Given the description of an element on the screen output the (x, y) to click on. 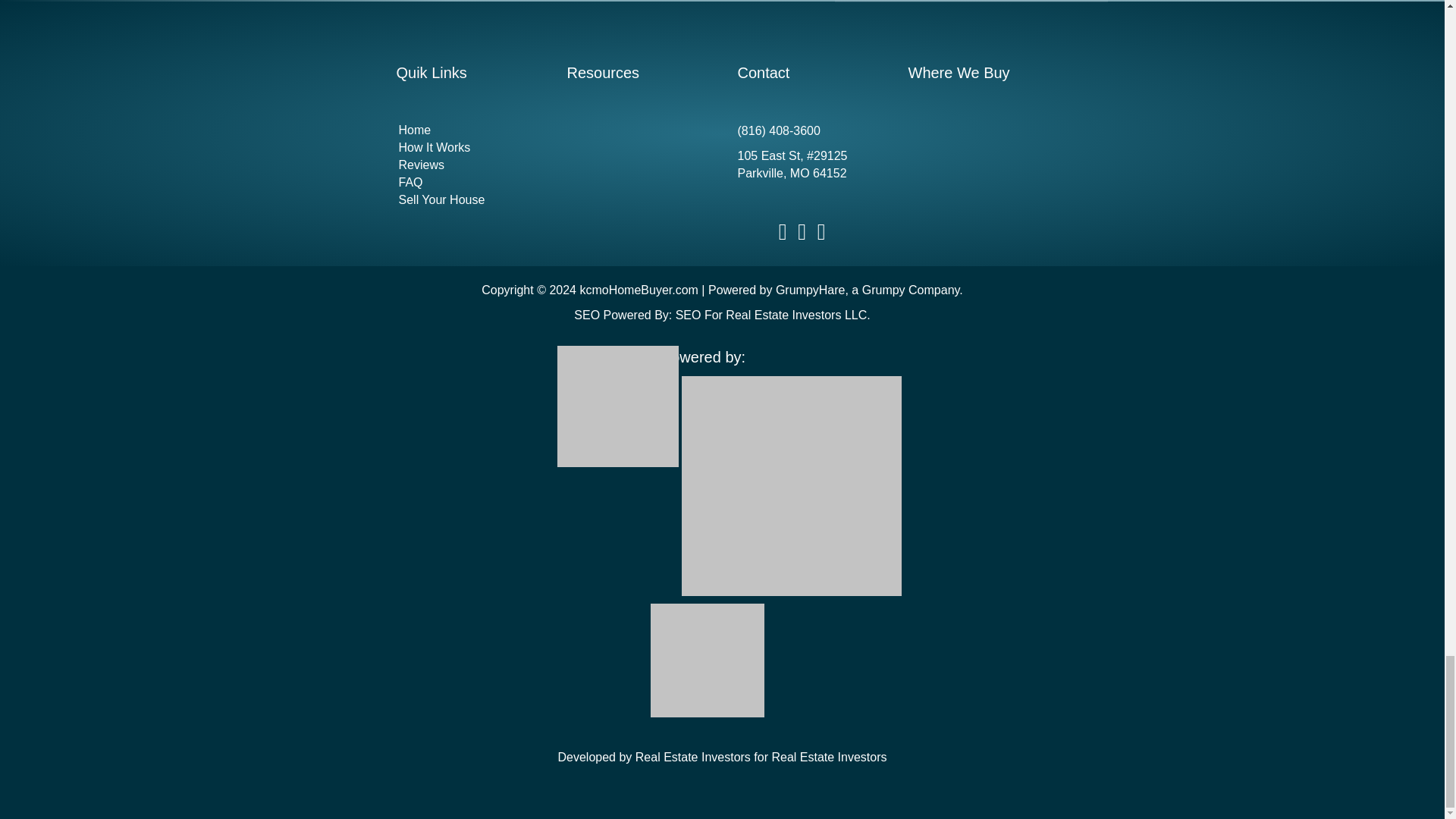
Home (465, 130)
Sell Your House (465, 199)
FAQ (465, 182)
How It Works (465, 147)
Reviews (465, 165)
